Given the description of an element on the screen output the (x, y) to click on. 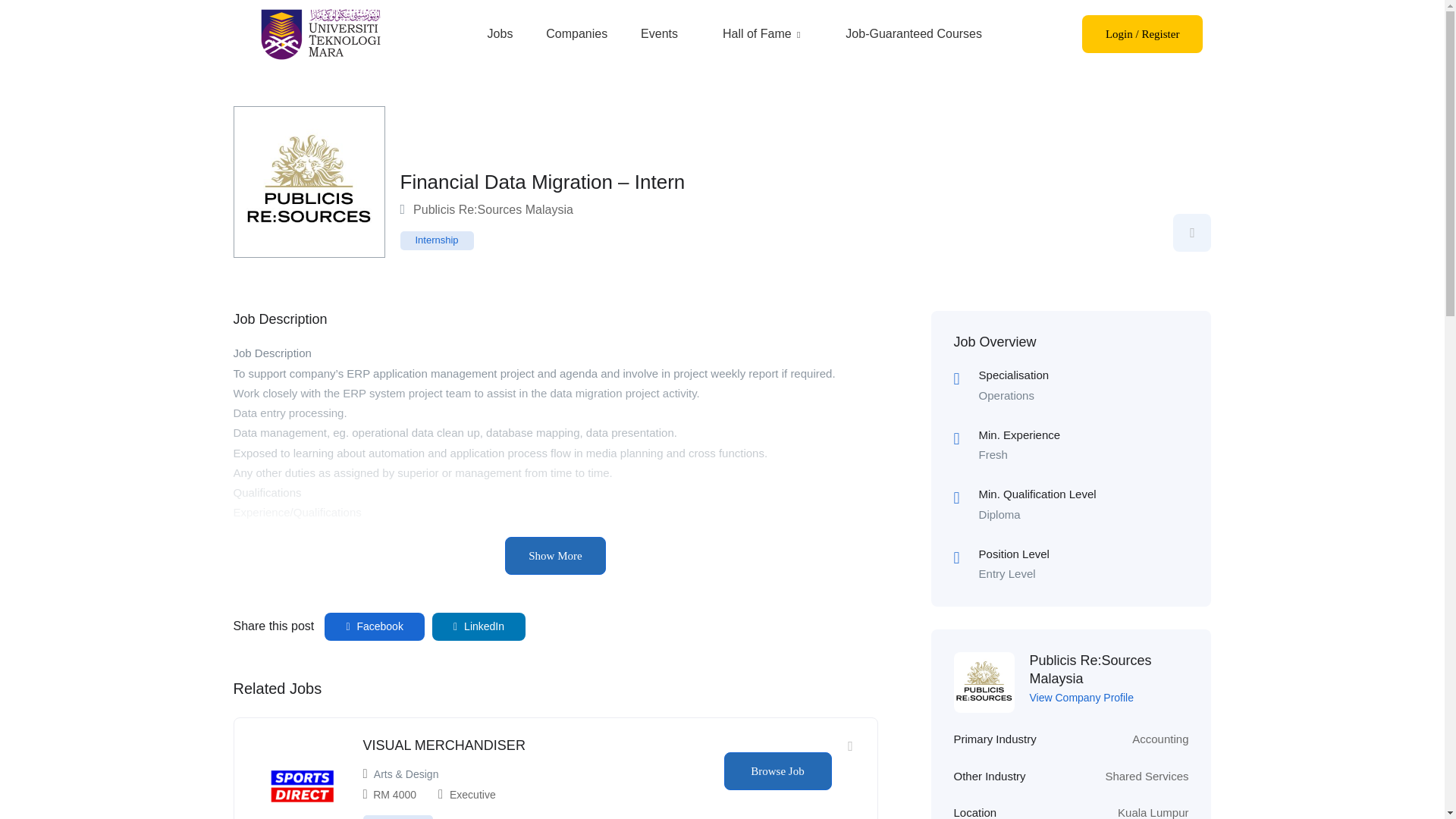
Companies (576, 34)
Job-Guaranteed Courses (914, 34)
IPTA-UiTM.png (319, 33)
Events (659, 34)
Jobs (500, 34)
Hall of Fame (761, 34)
